Given the description of an element on the screen output the (x, y) to click on. 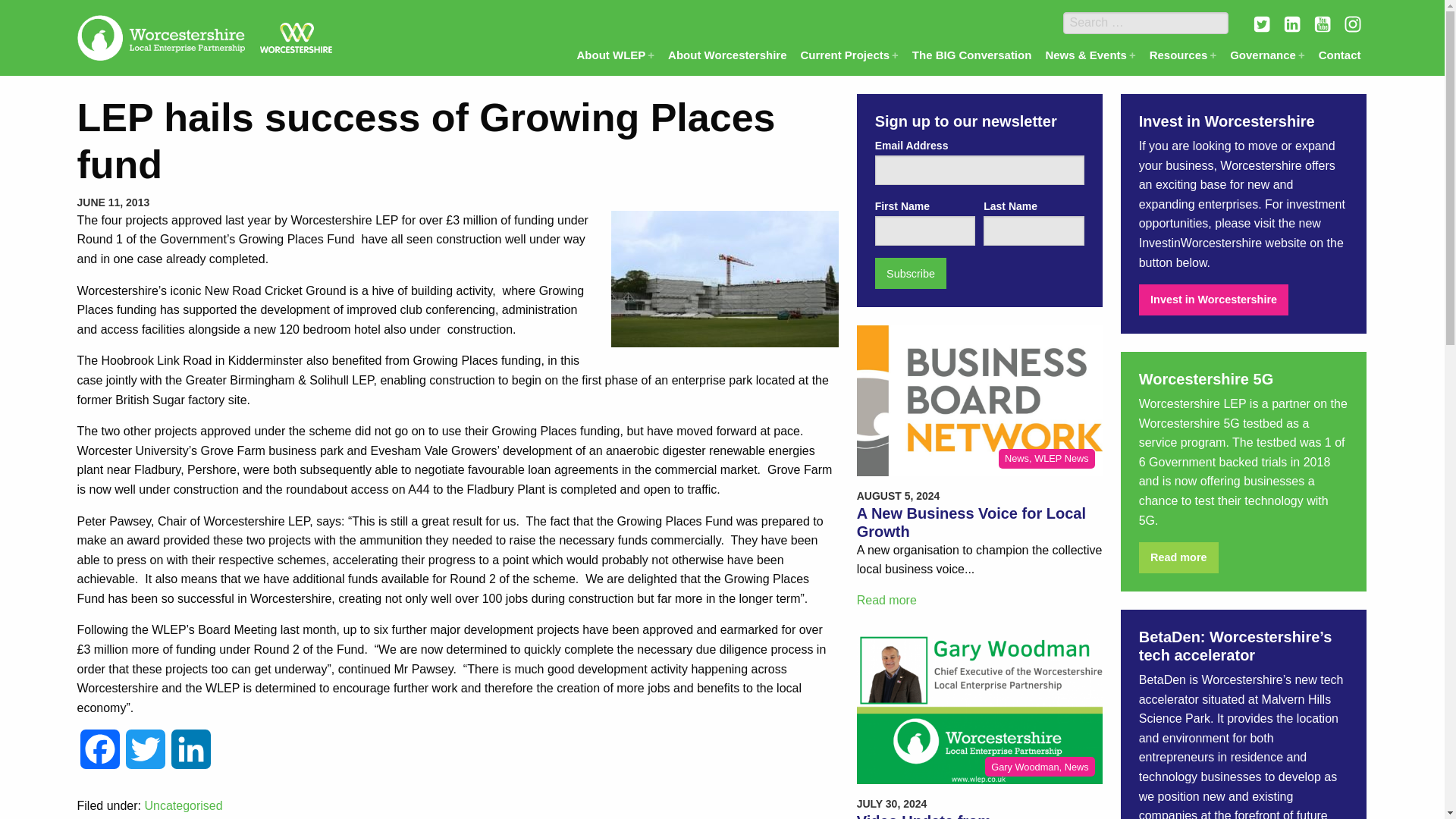
Youtube (1322, 24)
About WLEP (616, 55)
Contact (1339, 55)
Subscribe (911, 273)
About Worcestershire (727, 55)
Governance (1267, 55)
Search (29, 15)
Instagram (1353, 24)
website link (1213, 299)
Resources (1182, 55)
